Given the description of an element on the screen output the (x, y) to click on. 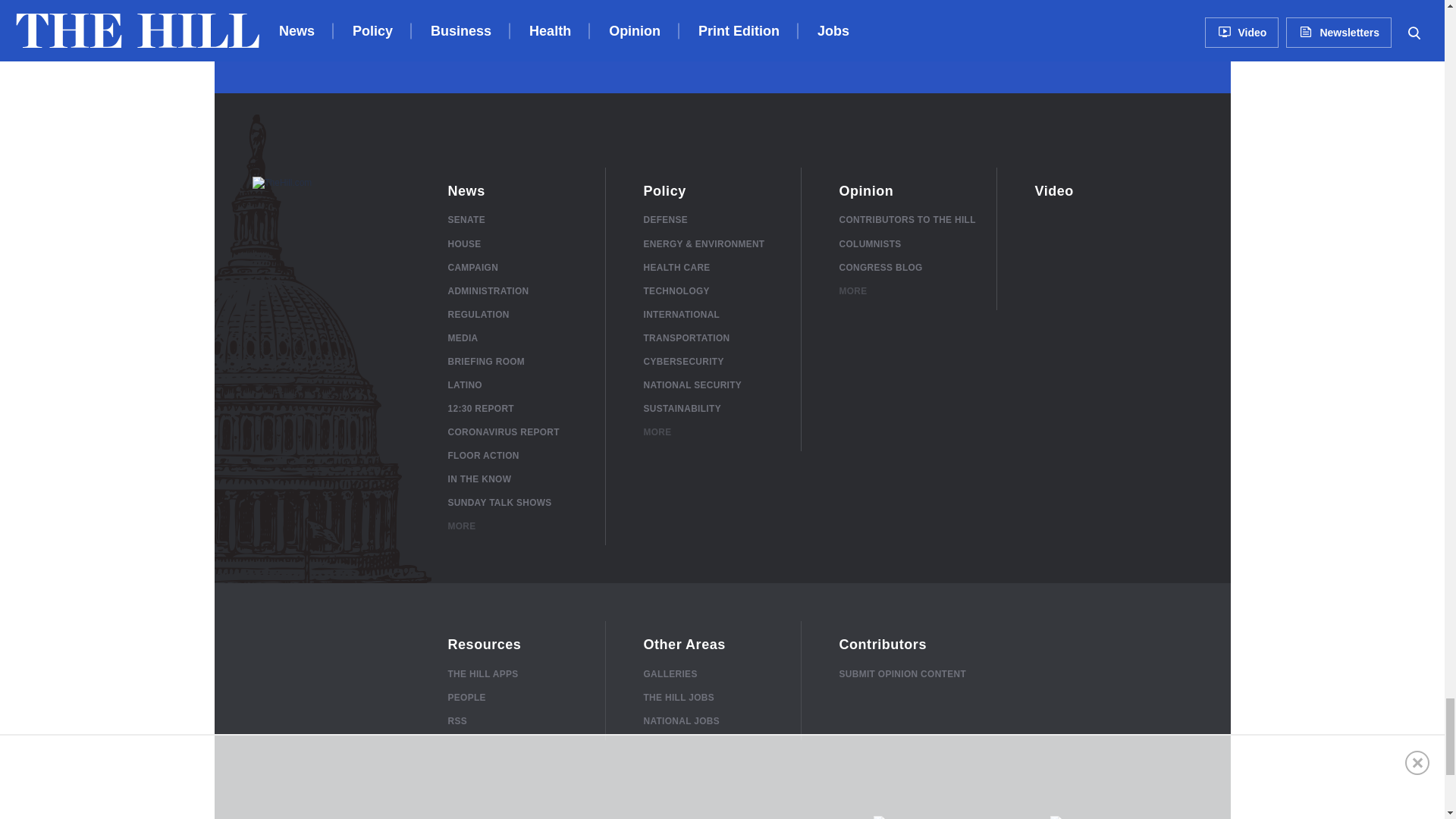
Send (1152, 24)
